Given the description of an element on the screen output the (x, y) to click on. 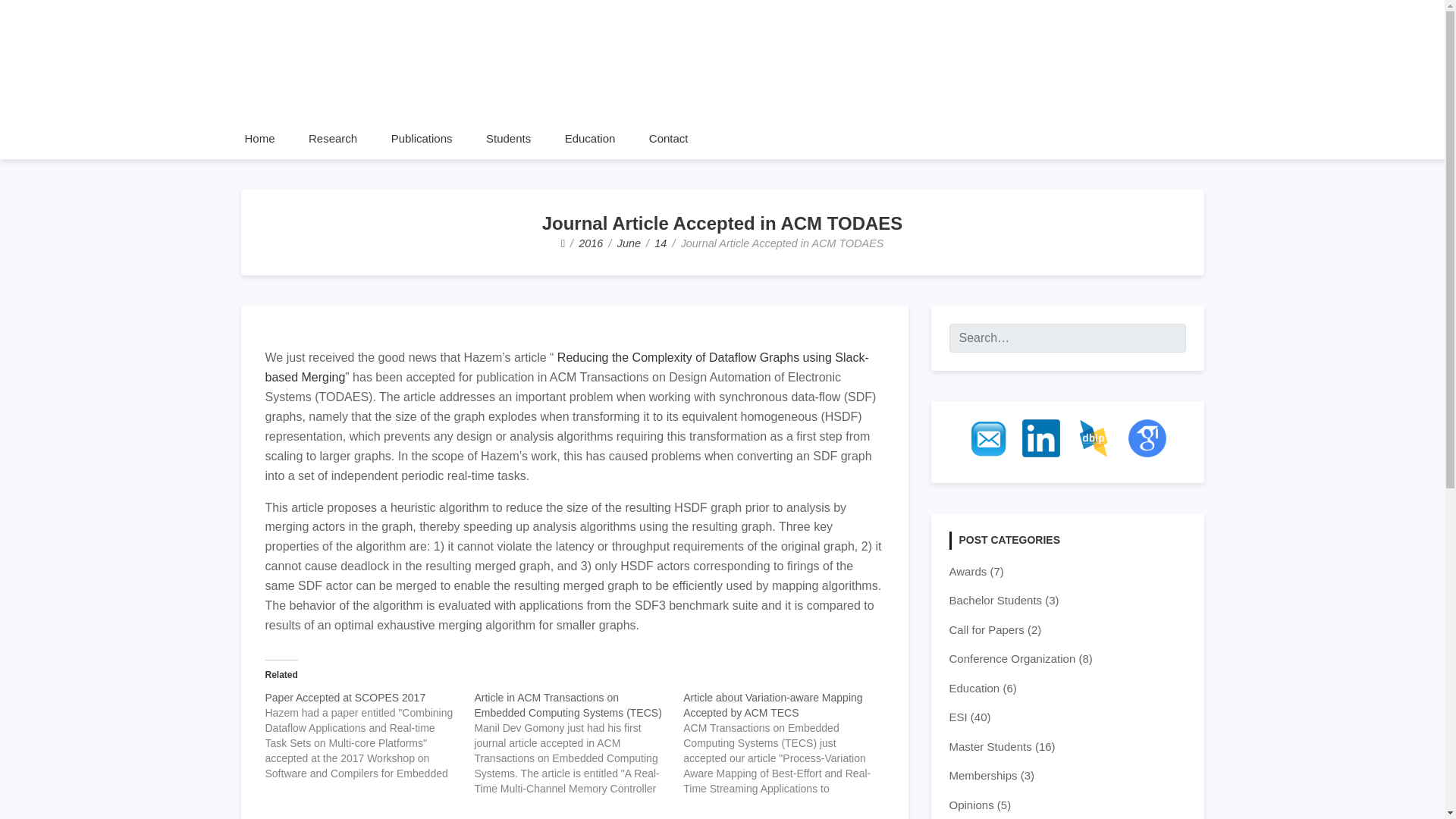
DBLP (1094, 438)
Home (258, 137)
Paper Accepted at SCOPES 2017 (369, 735)
Education (590, 137)
Paper Accepted at SCOPES 2017 (345, 697)
Research (333, 137)
Paper Accepted at SCOPES 2017 (345, 697)
LinkedIn (1040, 438)
E-mail (988, 438)
